Given the description of an element on the screen output the (x, y) to click on. 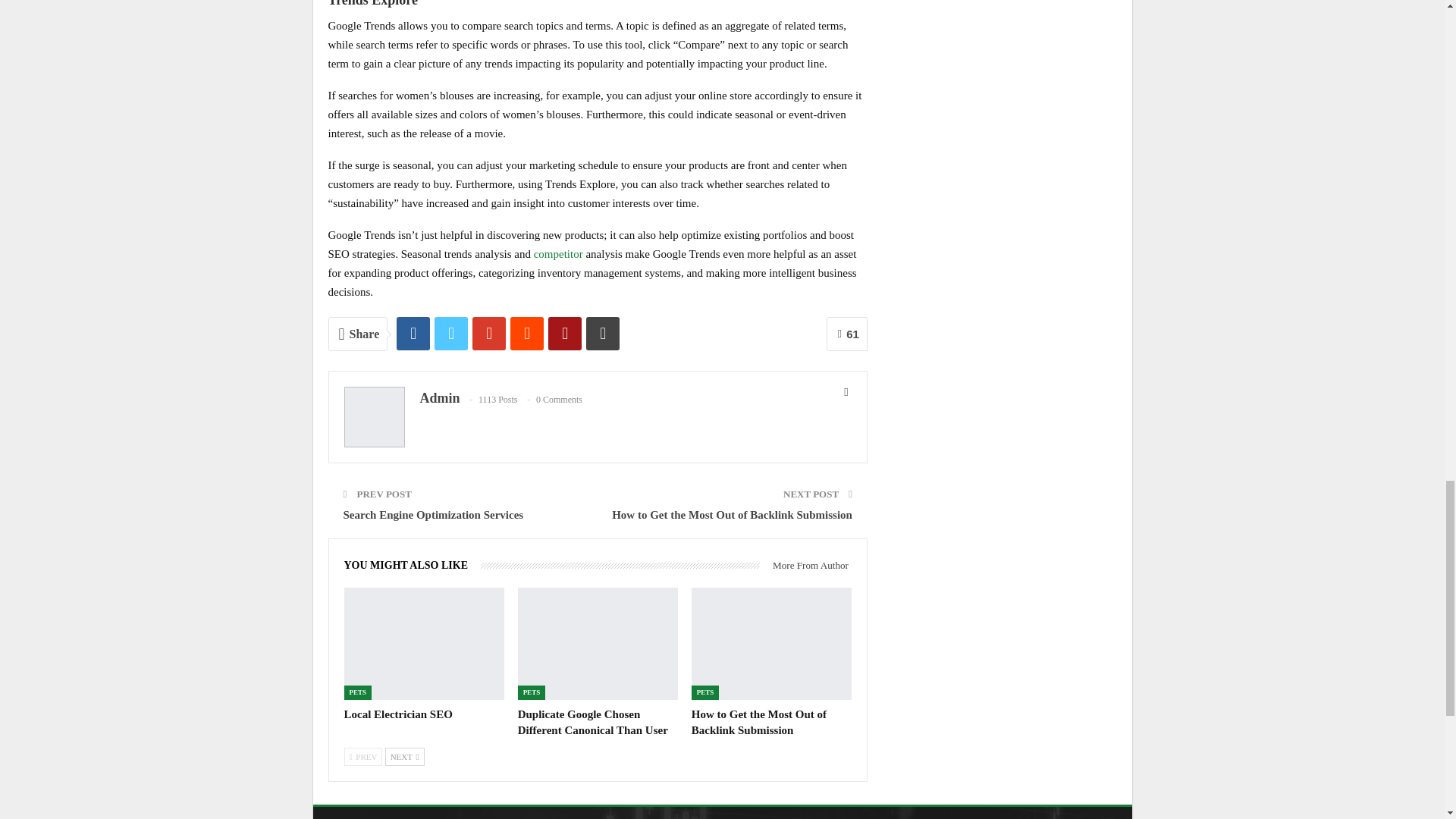
Previous (362, 756)
Local Electrician SEO (423, 644)
Duplicate Google Chosen Different Canonical Than User (593, 722)
How to Get the Most Out of Backlink Submission (759, 722)
How to Get the Most Out of Backlink Submission (771, 644)
Next (405, 756)
Duplicate Google Chosen Different Canonical Than User (598, 644)
Local Electrician SEO (397, 714)
